Given the description of an element on the screen output the (x, y) to click on. 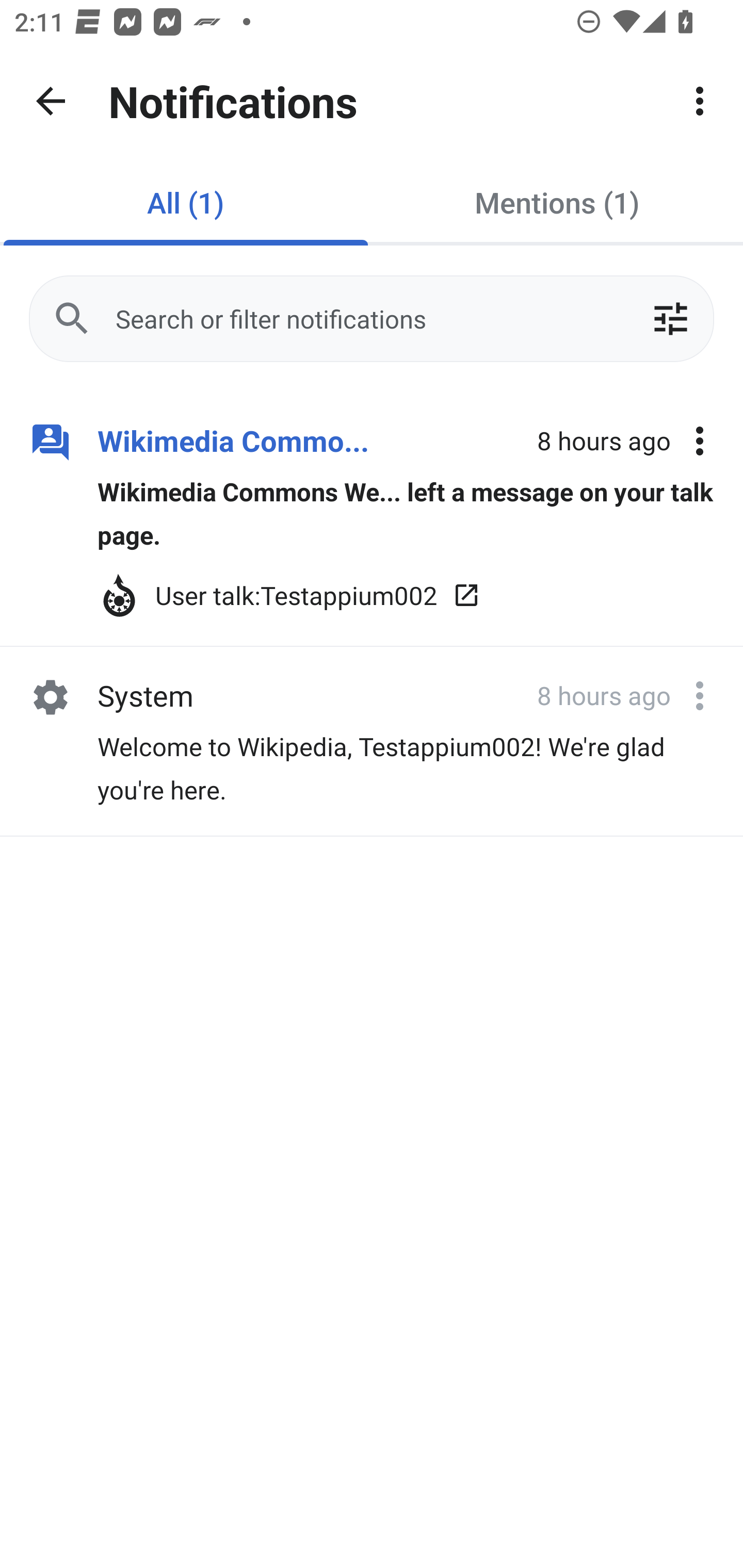
Navigate up (50, 101)
More (699, 101)
Mentions (1) (557, 202)
Notification filter (670, 318)
More options (699, 441)
More options (699, 695)
